Given the description of an element on the screen output the (x, y) to click on. 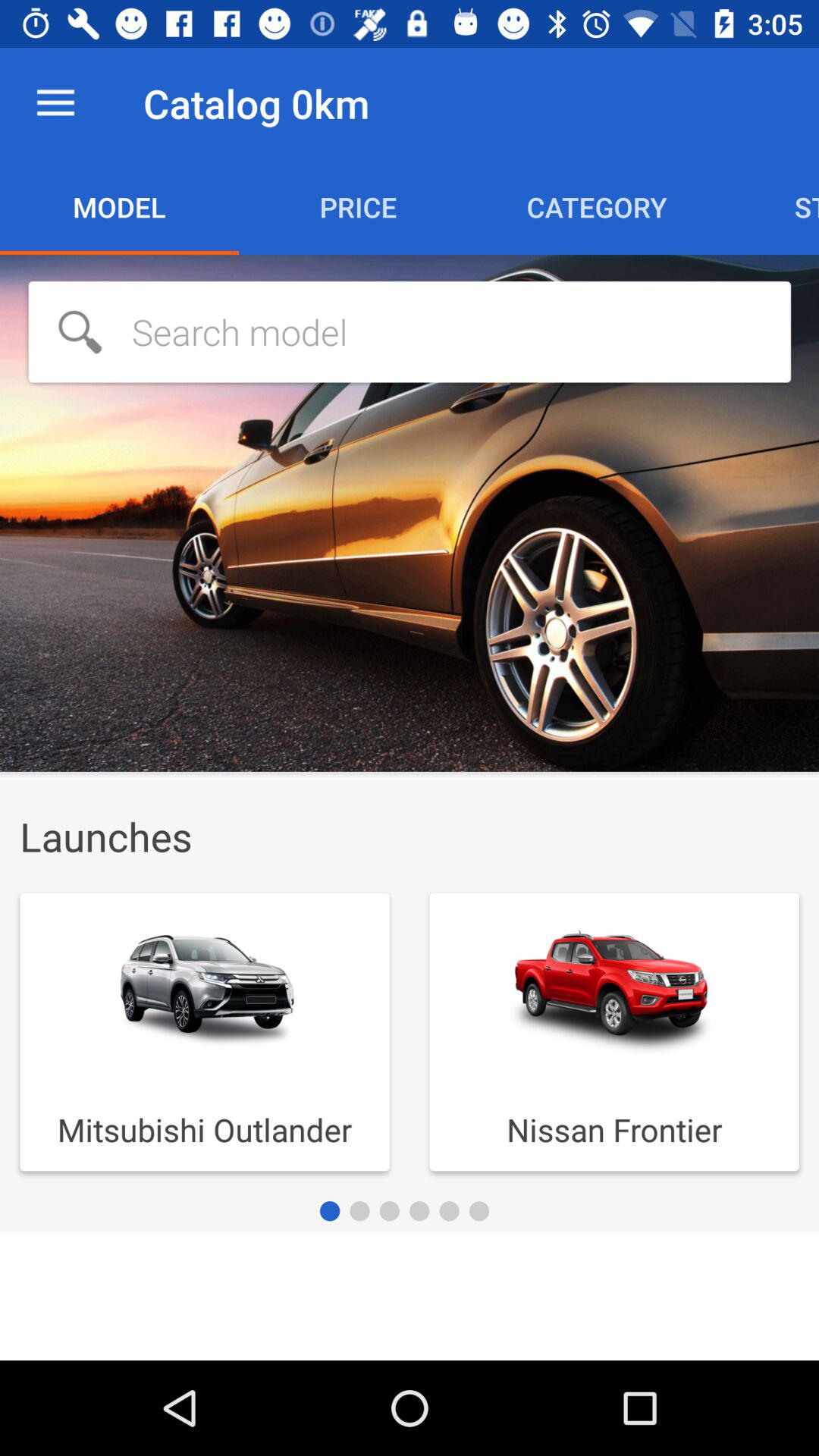
tap the icon next to the catalog 0km icon (55, 103)
